Given the description of an element on the screen output the (x, y) to click on. 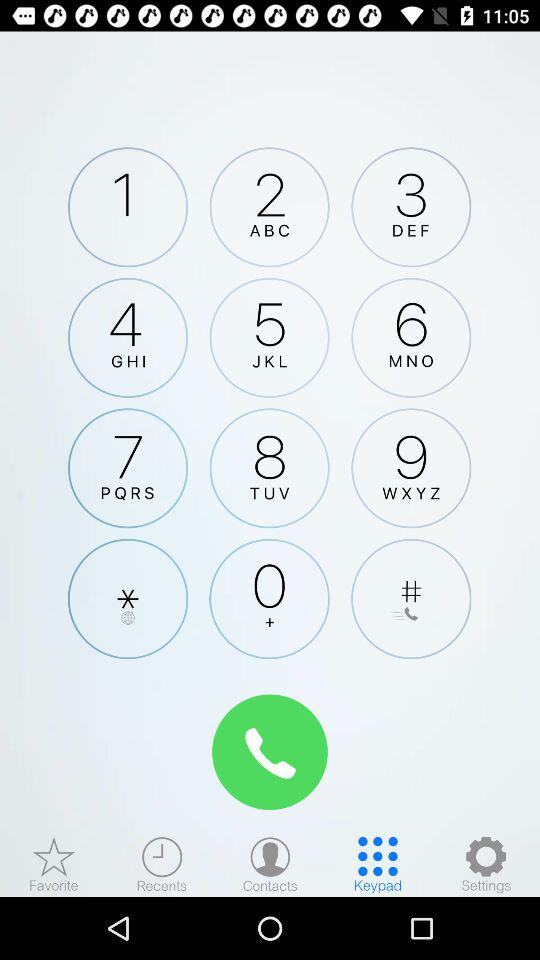
hit 5 (269, 337)
